Given the description of an element on the screen output the (x, y) to click on. 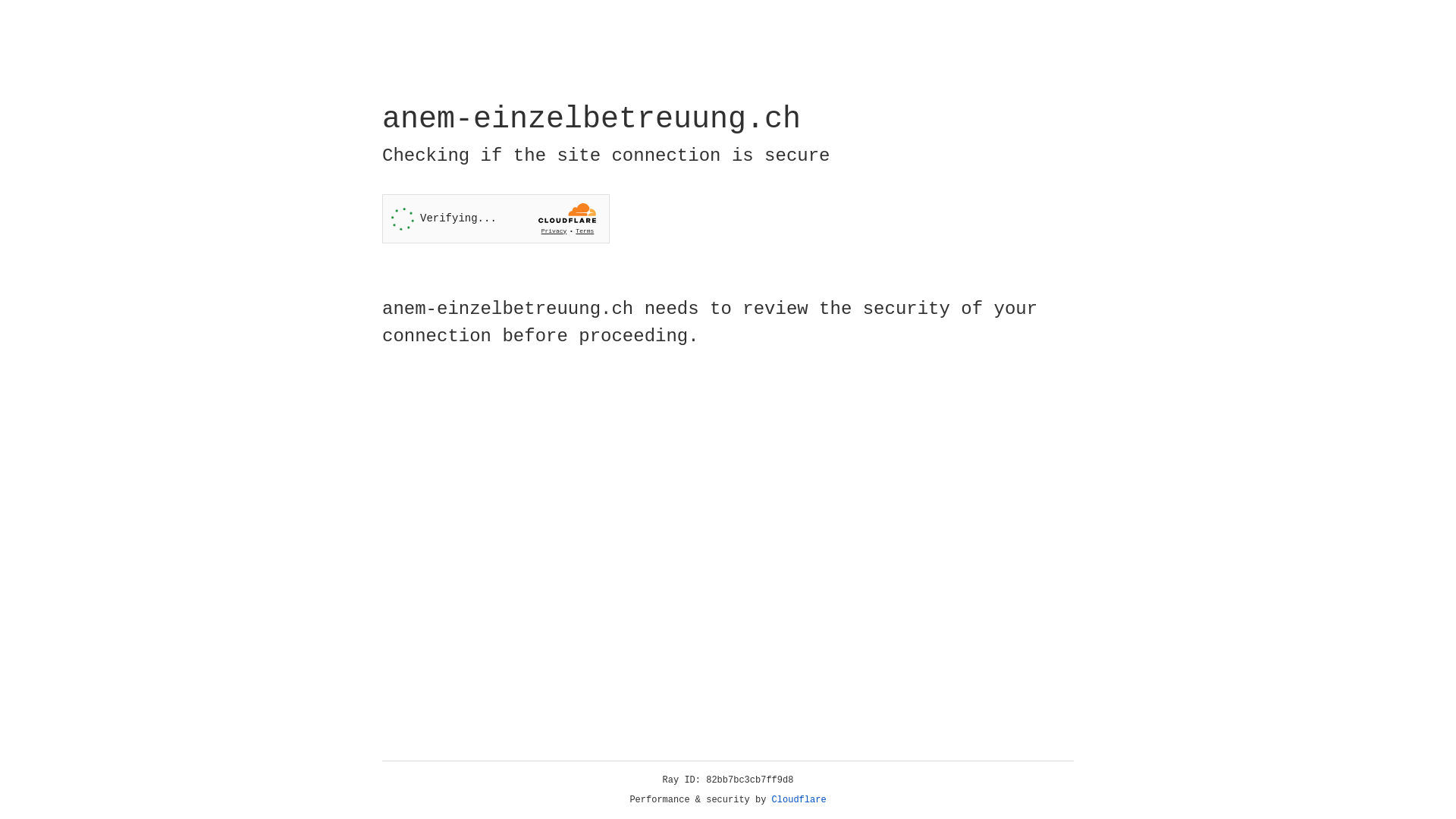
Cloudflare Element type: text (798, 799)
Widget containing a Cloudflare security challenge Element type: hover (495, 218)
